Given the description of an element on the screen output the (x, y) to click on. 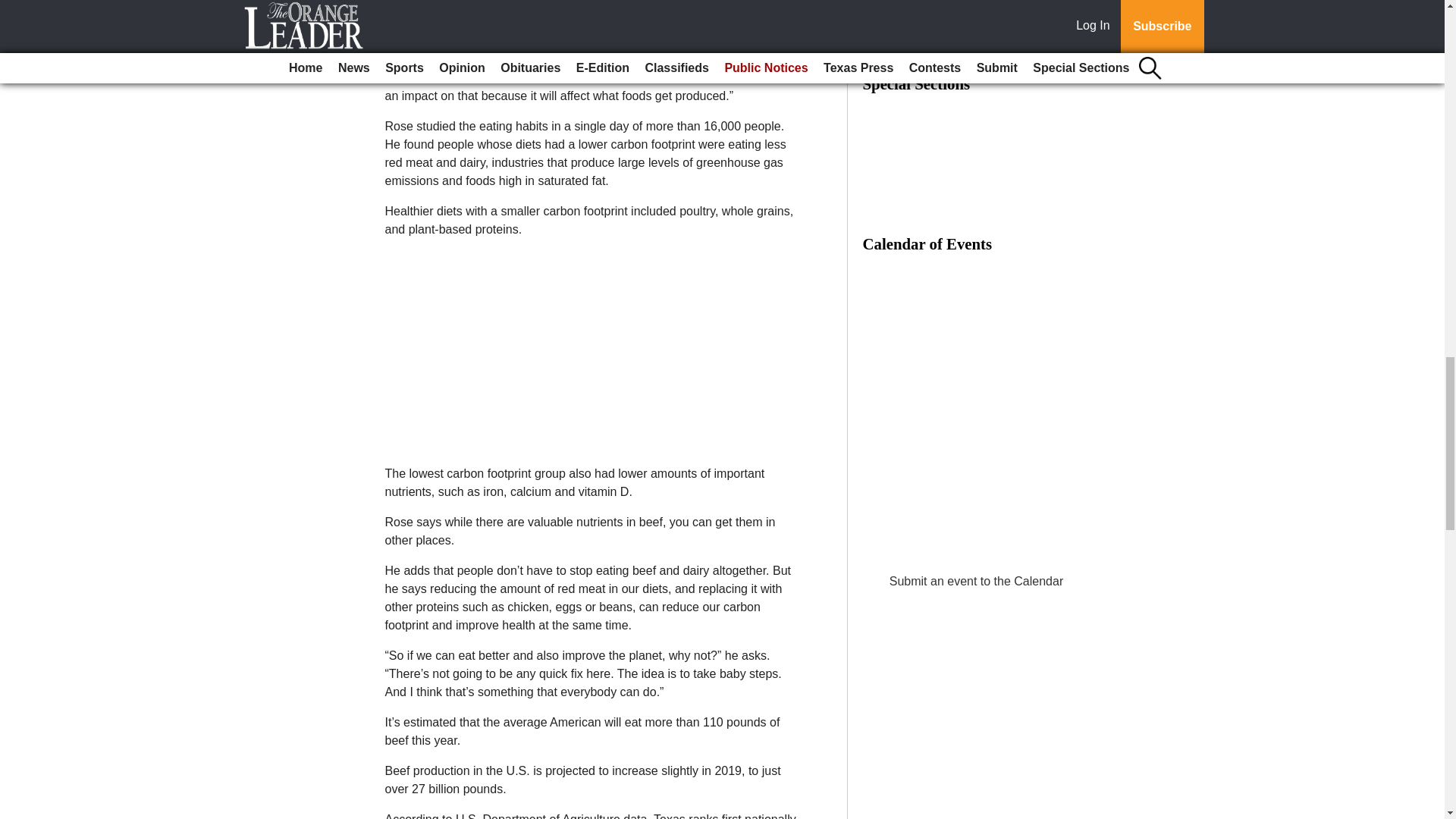
Submit an event to the Calendar (975, 581)
